Given the description of an element on the screen output the (x, y) to click on. 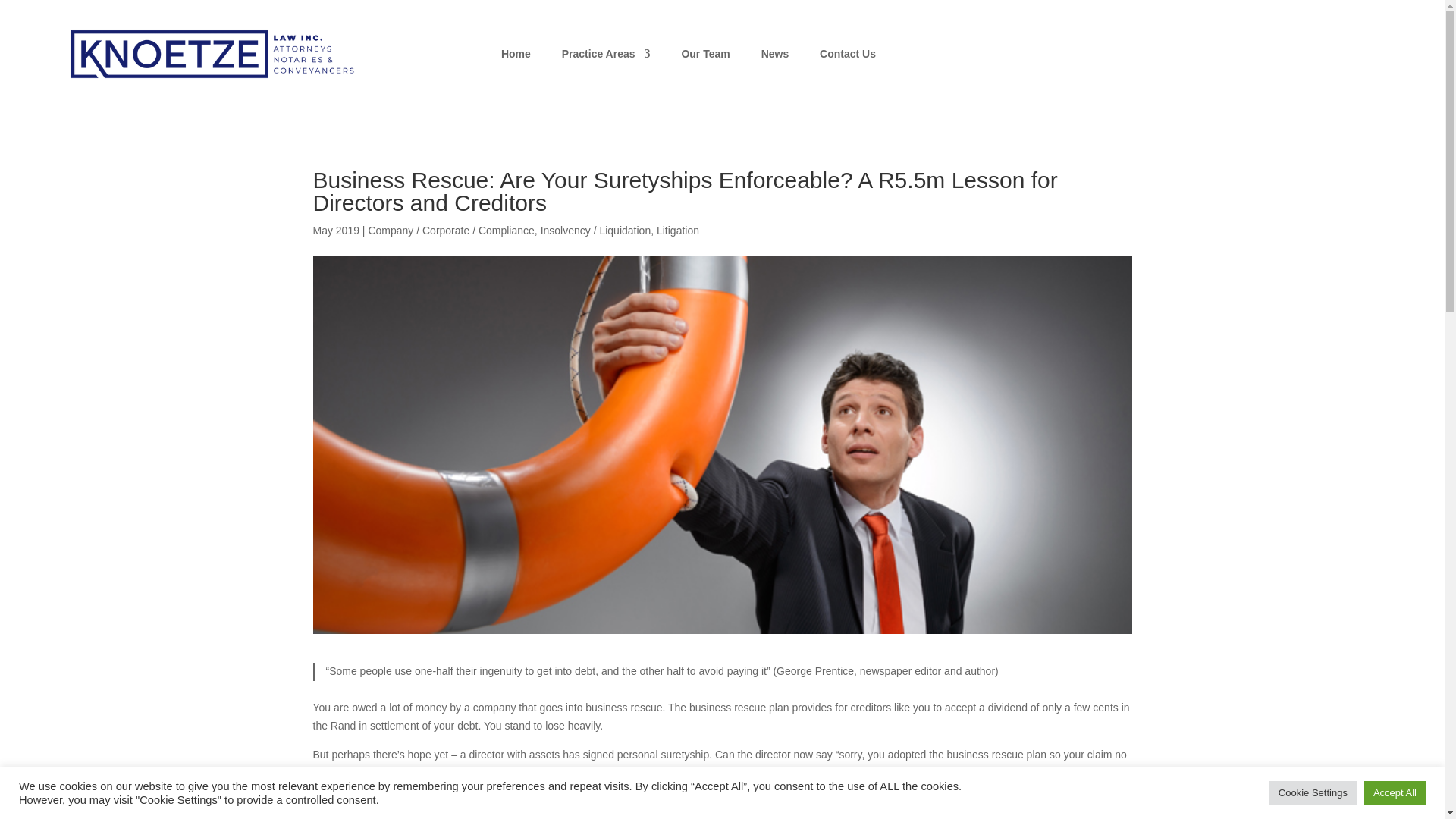
Our Team (705, 70)
Practice Areas (606, 70)
Contact Us (847, 70)
Litigation (677, 230)
